Given the description of an element on the screen output the (x, y) to click on. 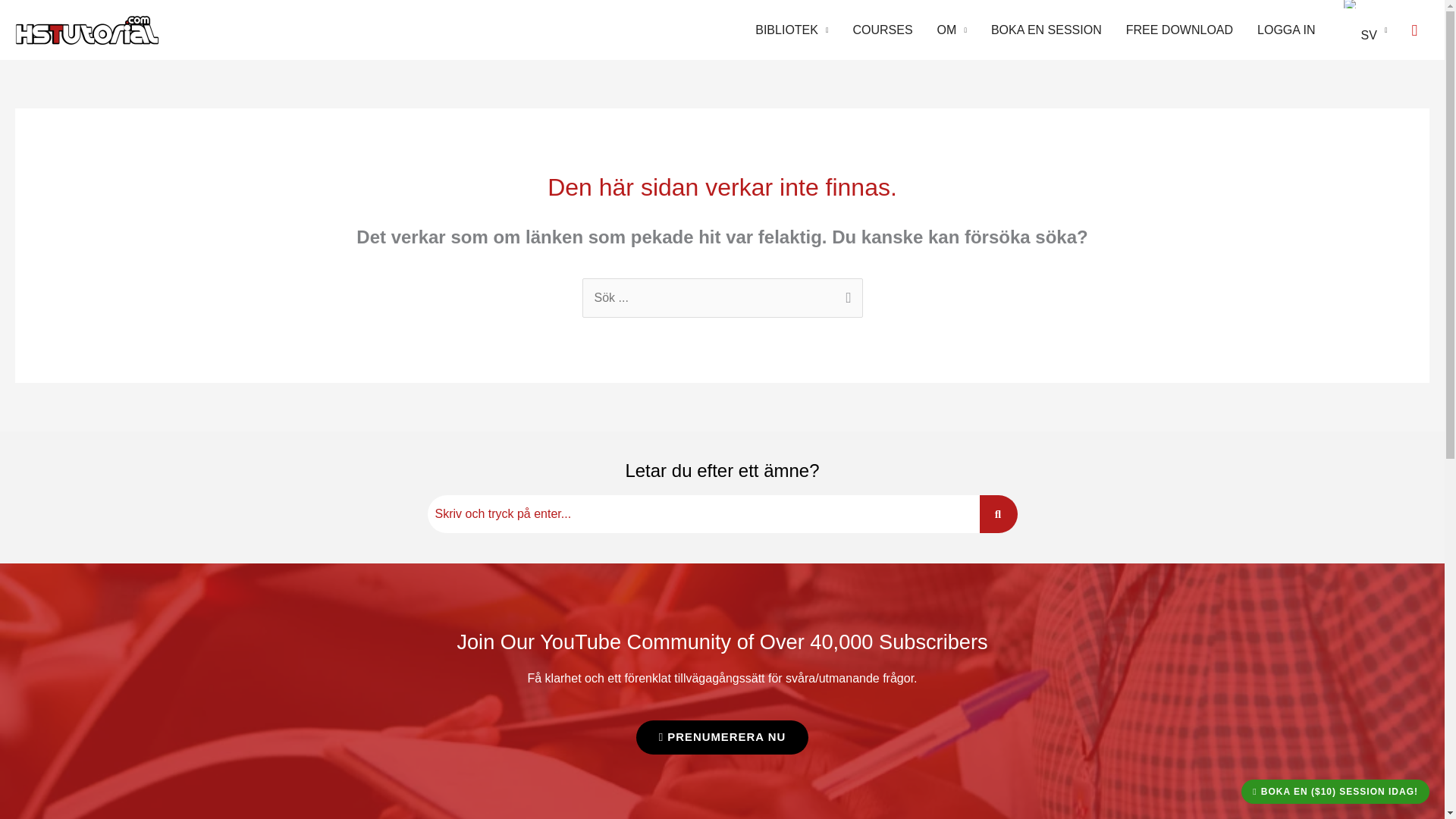
BIBLIOTEK (791, 29)
LOGGA IN (1285, 29)
SV (1363, 29)
OM (951, 29)
FREE DOWNLOAD (1178, 29)
BOKA EN SESSION (1045, 29)
COURSES (882, 29)
Swedish (1349, 4)
PRENUMERERA NU (722, 737)
